Given the description of an element on the screen output the (x, y) to click on. 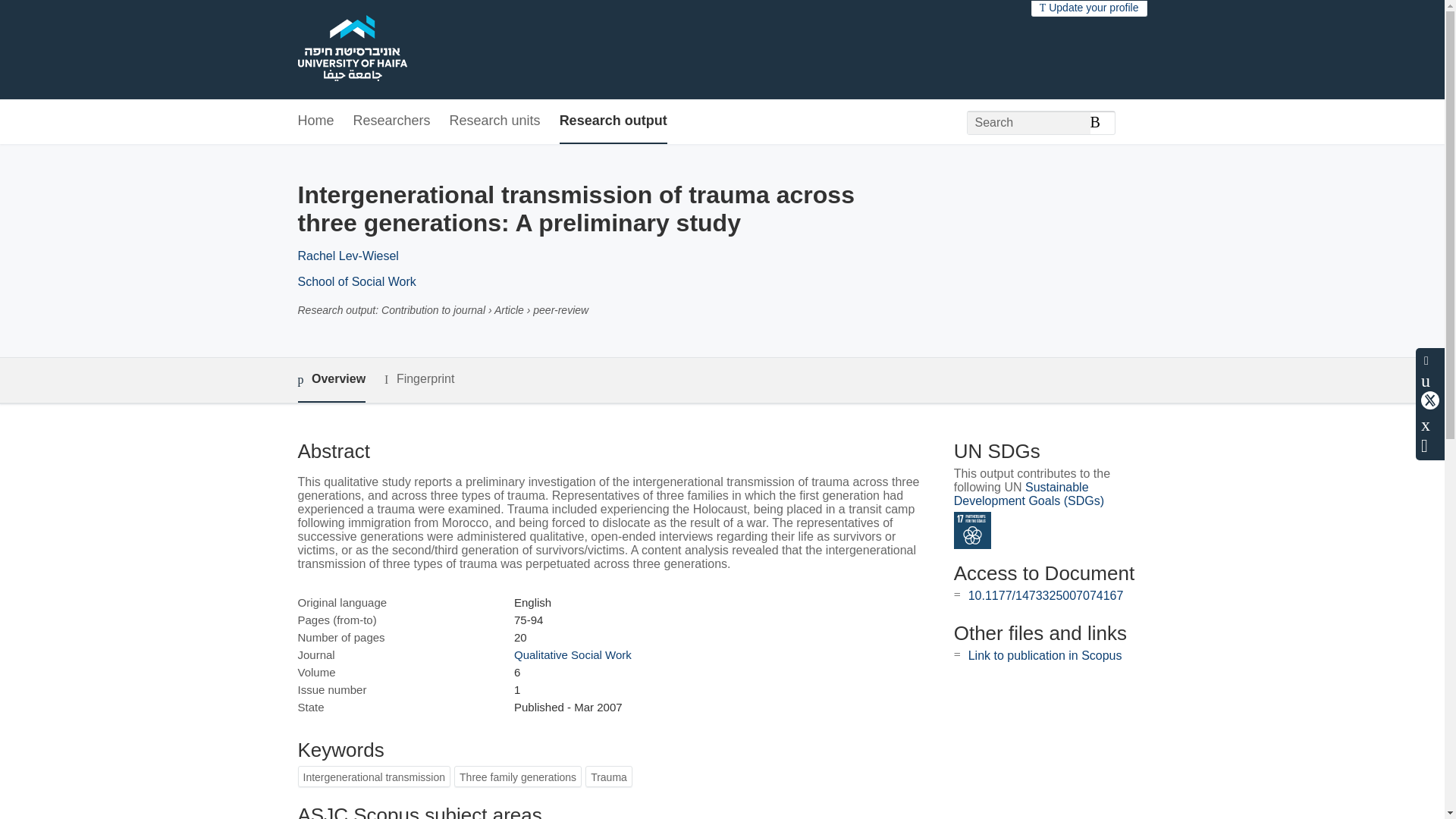
Overview (331, 379)
Rachel Lev-Wiesel (347, 255)
Qualitative Social Work (572, 654)
Research units (494, 121)
SDG 17 - Partnerships for the Goals (972, 529)
Fingerprint (419, 379)
Research output (612, 121)
Link to publication in Scopus (1045, 655)
Update your profile (1089, 7)
University of Haifa Home (351, 49)
Researchers (391, 121)
School of Social Work (355, 281)
